Given the description of an element on the screen output the (x, y) to click on. 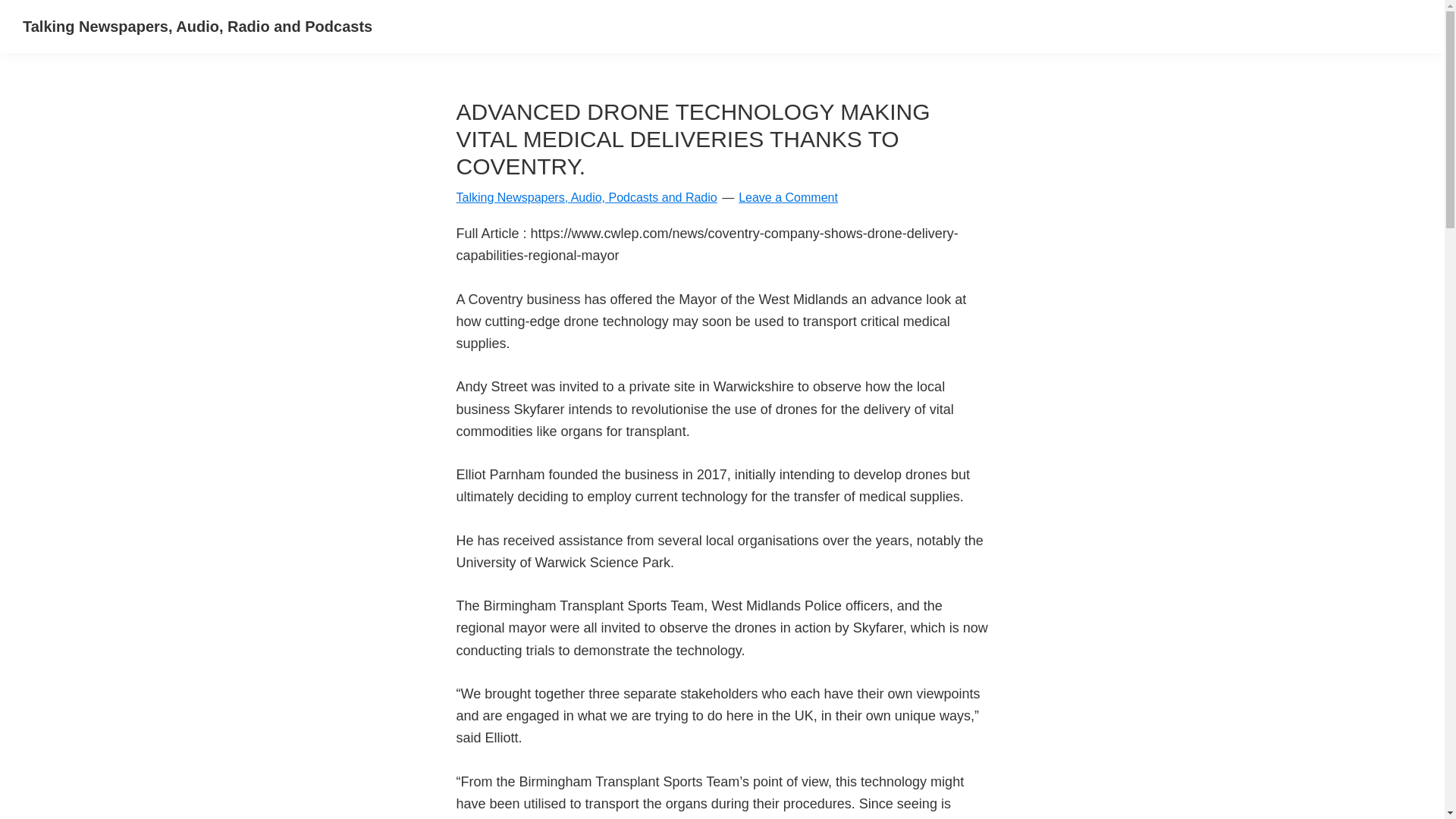
Leave a Comment (788, 196)
Talking Newspapers, Audio, Radio and Podcasts (197, 26)
Talking Newspapers, Audio, Podcasts and Radio (587, 196)
